Given the description of an element on the screen output the (x, y) to click on. 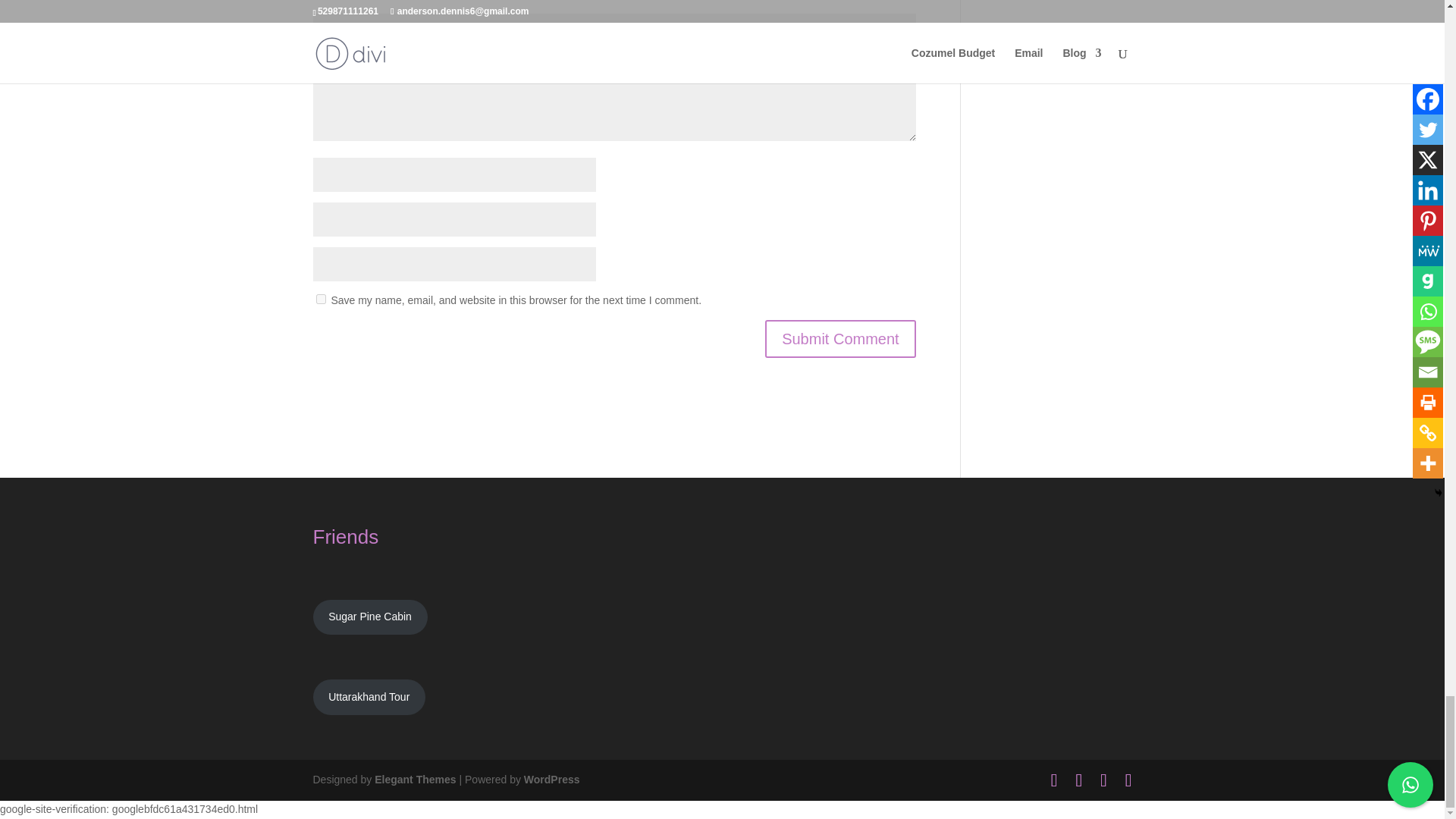
Submit Comment (840, 338)
yes (319, 298)
